Given the description of an element on the screen output the (x, y) to click on. 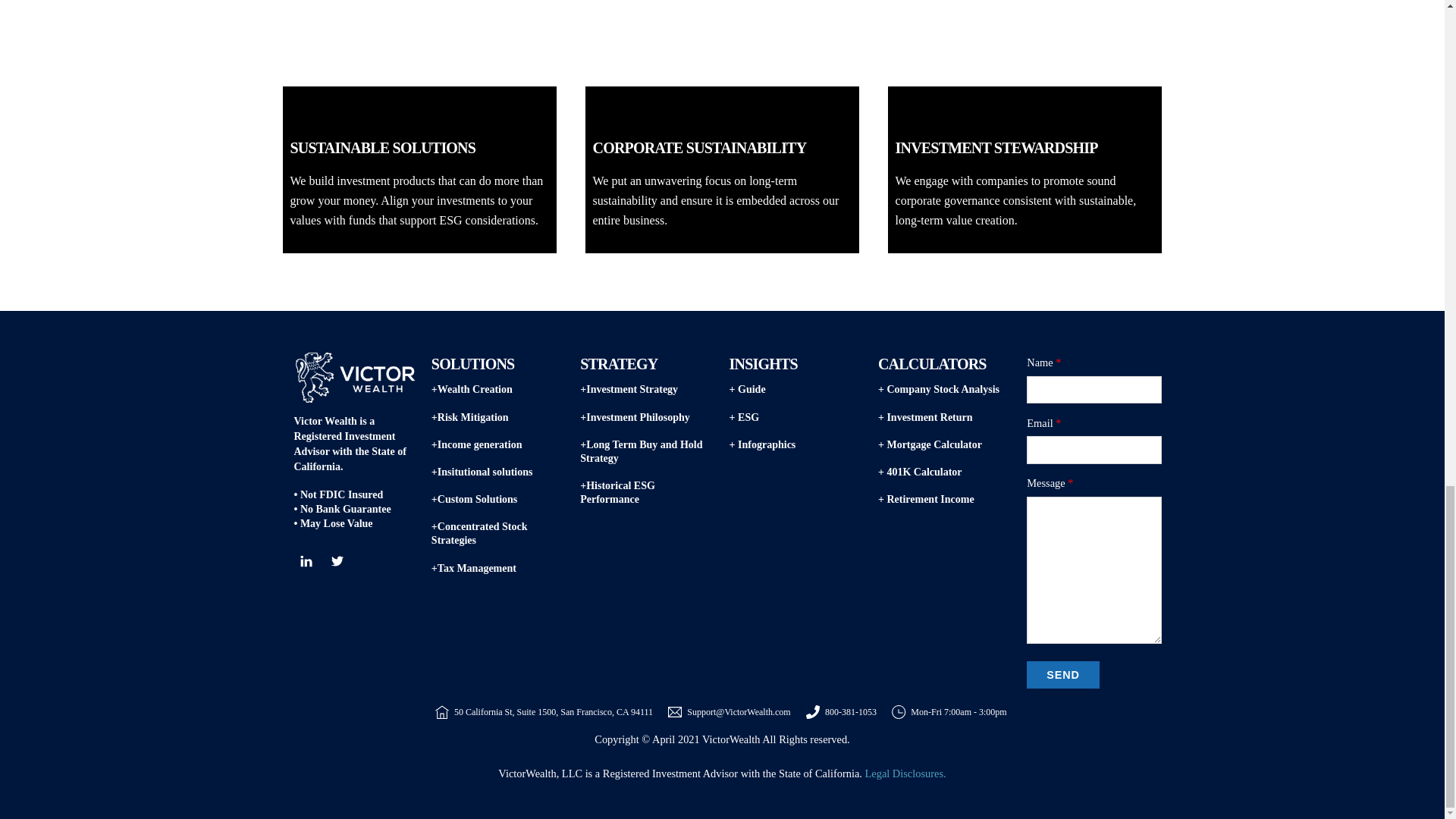
Victor Wealth-wl (355, 377)
